Given the description of an element on the screen output the (x, y) to click on. 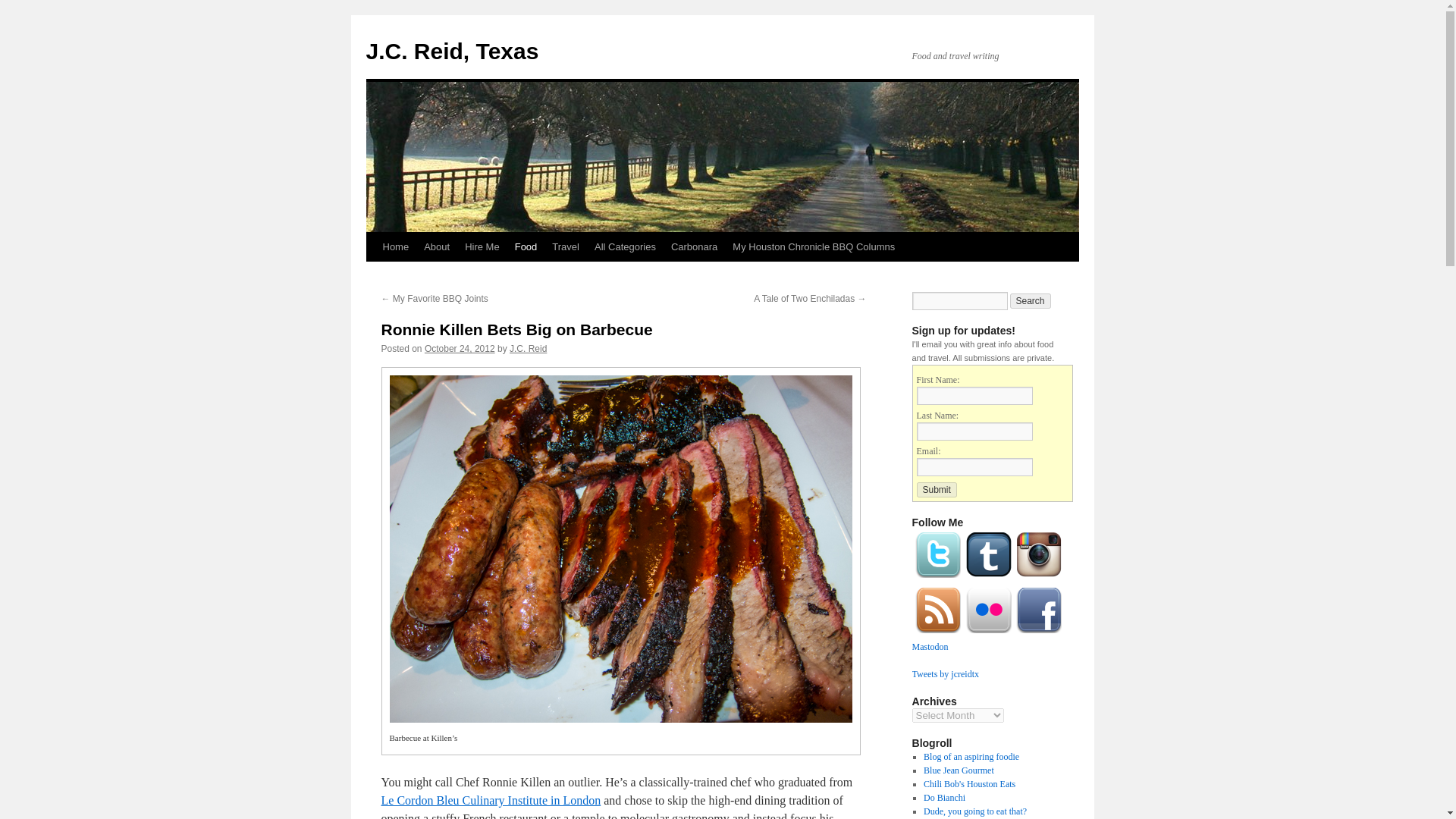
Facebook (1038, 633)
Home (395, 246)
Travel (565, 246)
Food (525, 246)
J.C. Reid, Texas (451, 50)
Instagram (1038, 577)
Hire Me (481, 246)
Flickr (988, 633)
Search (1030, 300)
View all posts by J.C. Reid (528, 348)
